Given the description of an element on the screen output the (x, y) to click on. 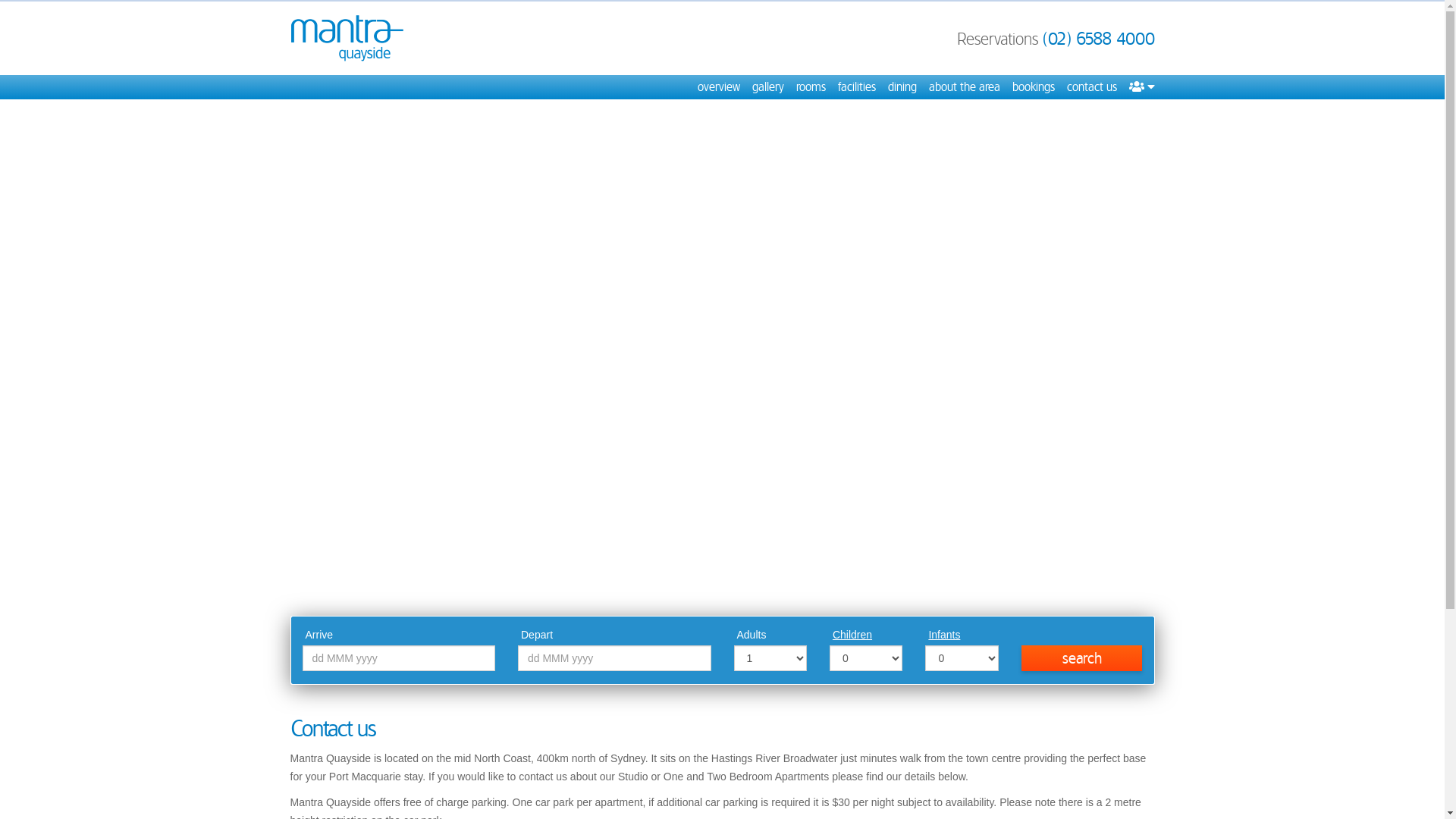
contact us Element type: text (1091, 87)
(02) 6588 4000 Element type: text (1097, 38)
overview Element type: text (718, 87)
rooms Element type: text (810, 87)
Mantra Quayside Element type: hover (346, 37)
search Element type: text (1081, 658)
about the area Element type: text (963, 87)
facilities Element type: text (856, 87)
gallery Element type: text (768, 87)
bookings Element type: text (1032, 87)
dining Element type: text (901, 87)
